Given the description of an element on the screen output the (x, y) to click on. 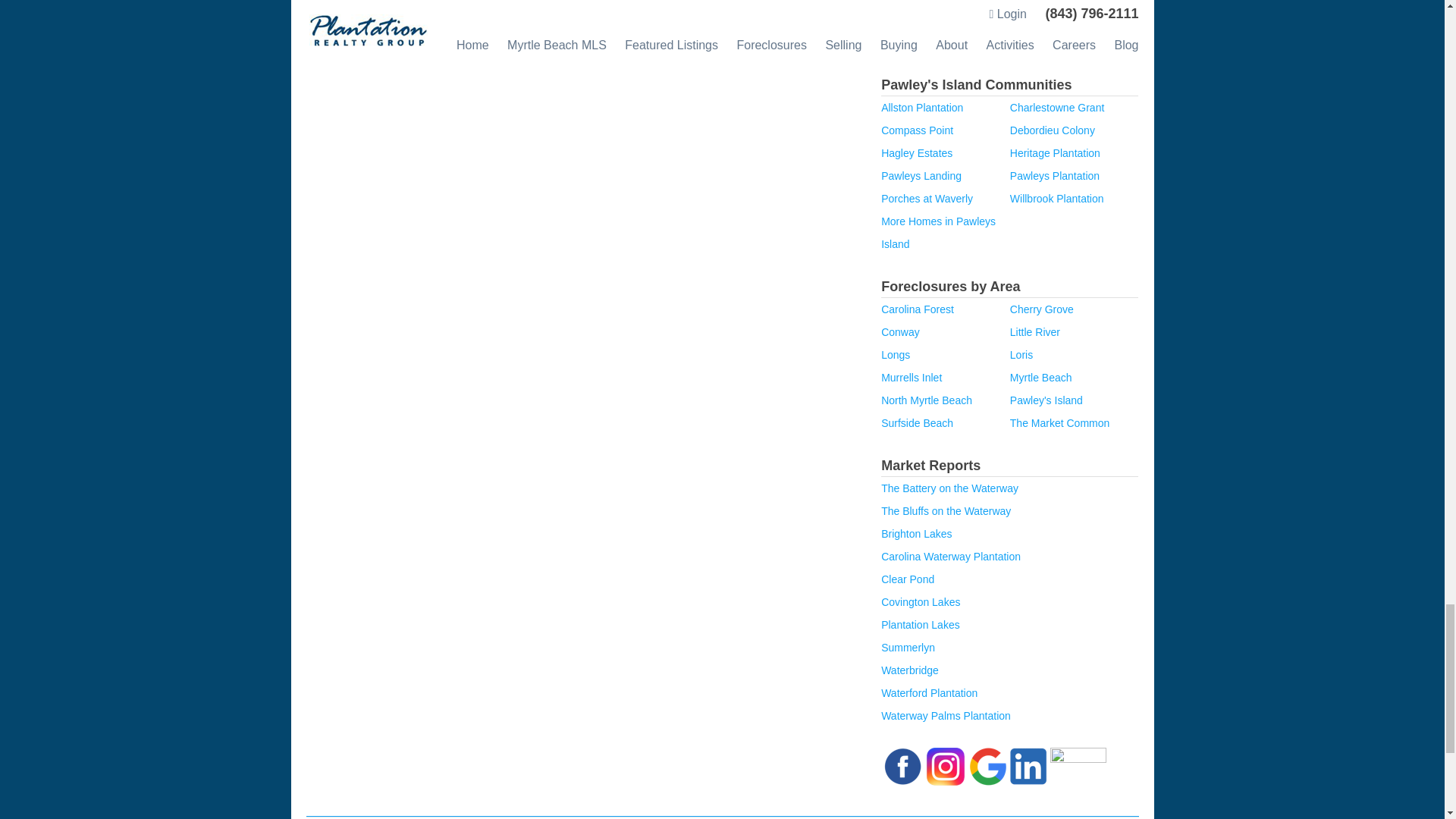
Plantation Realty Group Youtube (1077, 765)
Plantation Realty Group Facebook (902, 765)
Plantation Realty Group Google (987, 765)
Plantation Realty Group Instagram (945, 765)
Plantation Realty Group Linkedin (1027, 765)
